Given the description of an element on the screen output the (x, y) to click on. 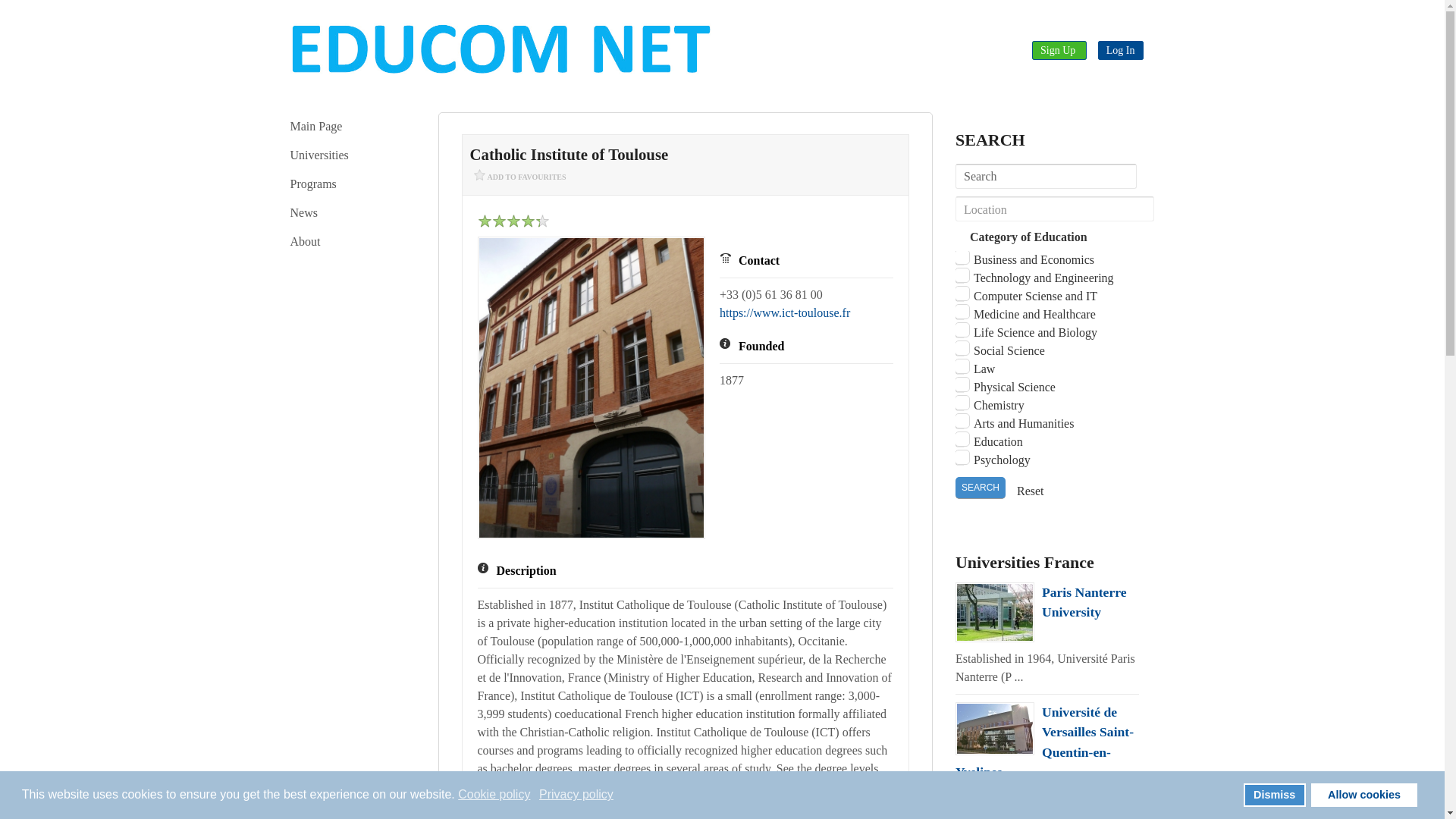
Nanterre-250x188 (994, 612)
EDUCOM.NET (499, 48)
Log In (1119, 49)
4 out of 5 (506, 220)
Privacy policy (576, 794)
Add to Favourites (520, 178)
1 out of 5 (484, 220)
Dismiss (1274, 794)
Cookie policy (495, 794)
ADD TO FAVOURITES (520, 178)
1 (513, 220)
Sign Up (1059, 49)
5 out of 5 (513, 220)
1 (499, 220)
1 (506, 220)
